Given the description of an element on the screen output the (x, y) to click on. 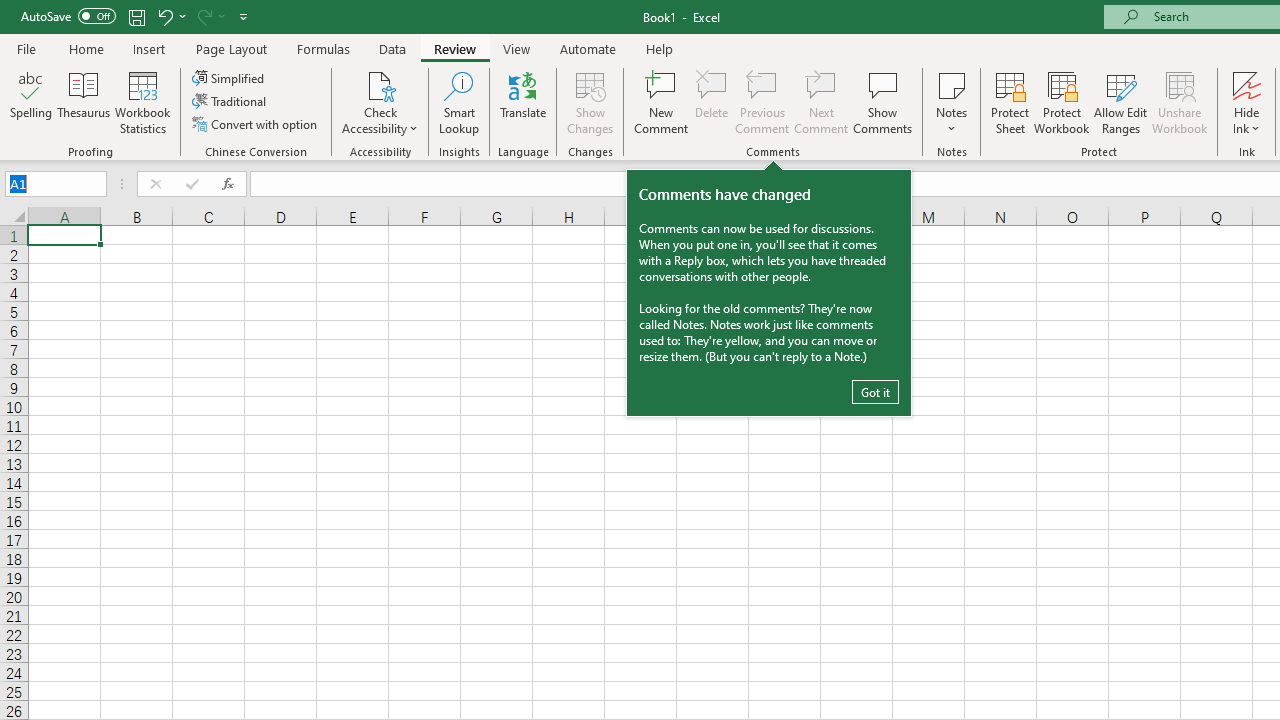
Show Changes (589, 102)
Delete (712, 102)
Got it (875, 391)
Hide Ink (1247, 102)
Show Comments (883, 102)
Traditional (230, 101)
Previous Comment (762, 102)
